Given the description of an element on the screen output the (x, y) to click on. 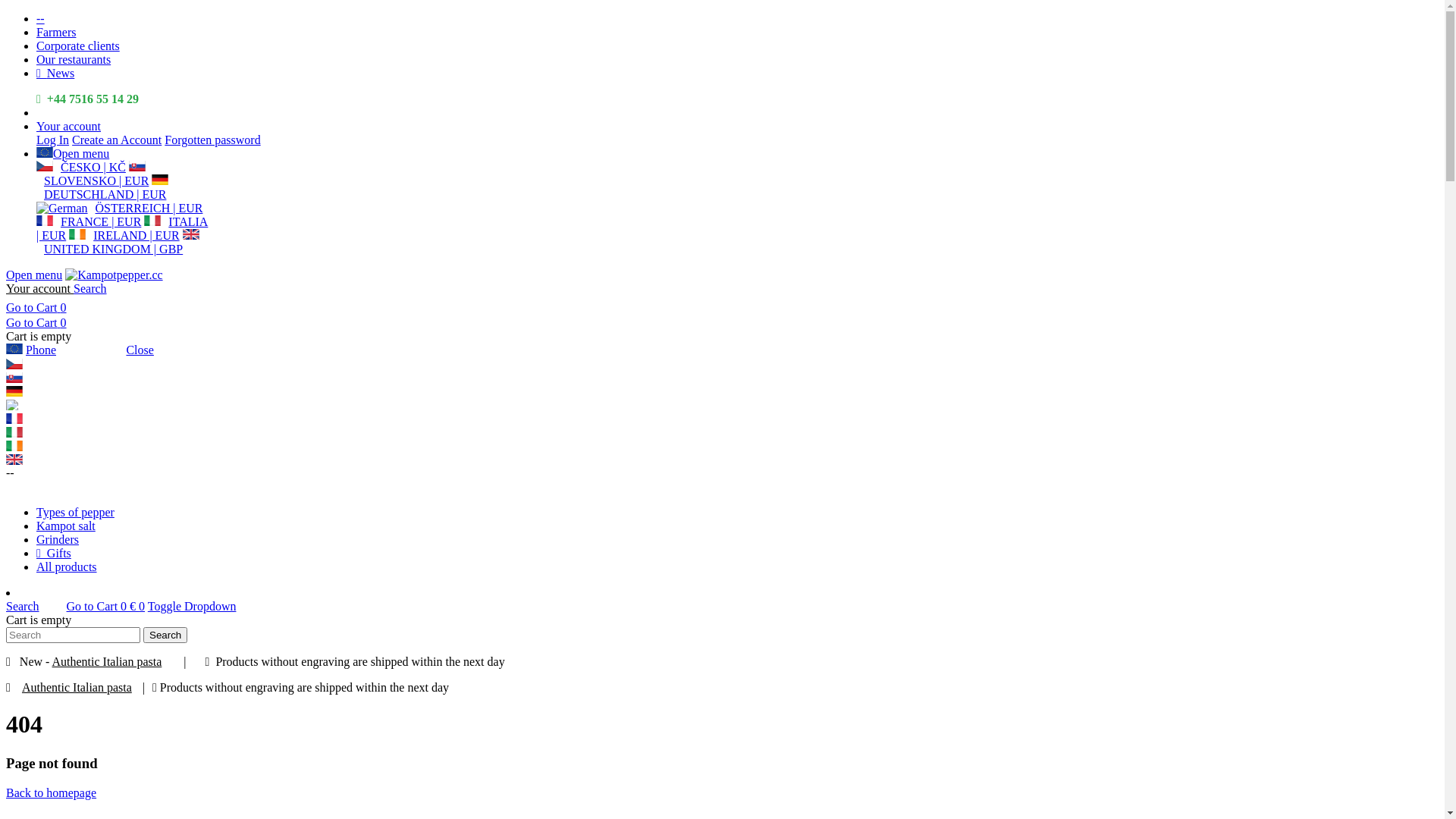
Slovak Element type: hover (136, 165)
Deutschland | EUR Element type: text (722, 391)
English Element type: hover (190, 234)
Your account Element type: text (68, 125)
Search Element type: text (89, 288)
Open menu Element type: text (72, 153)
Slovensko | Eur Element type: text (722, 377)
Go to Cart 0 Element type: text (36, 307)
English Element type: hover (77, 234)
Close Element type: text (139, 349)
Farmers Element type: text (55, 31)
All products Element type: text (66, 566)
Our restaurants Element type: text (73, 59)
SLOVENSKO | EUR Element type: text (92, 173)
Home Element type: hover (113, 274)
FRANCE | EUR Element type: text (88, 221)
Go to Cart 0 Element type: text (36, 322)
France | Eur Element type: text (722, 418)
DEUTSCHLAND | EUR Element type: text (102, 187)
Kampot salt Element type: text (65, 525)
Types of pepper Element type: text (75, 511)
-- Element type: text (40, 18)
German Element type: hover (159, 179)
UNITED KINGDOM | GBP Element type: text (117, 242)
Your account Element type: text (39, 288)
Search Element type: text (165, 635)
Ireland | Eur Element type: text (722, 445)
IRELAND | EUR Element type: text (123, 235)
Kampotpepper.cc Element type: hover (113, 275)
United Kingdom | GBP Element type: text (722, 459)
Forgotten password Element type: text (181, 486)
Grinders Element type: text (57, 539)
ITALIA | EUR Element type: text (121, 228)
Authentic Italian pasta Element type: text (106, 661)
Log In Element type: text (52, 139)
Your account Element type: text (91, 349)
Forgotten password Element type: text (212, 139)
Czech Element type: hover (44, 165)
English Element type: hover (44, 152)
Italian Element type: hover (152, 220)
Search Element type: text (34, 605)
English Element type: hover (14, 348)
Create an Account Element type: text (86, 486)
German Element type: hover (61, 208)
Create an Account Element type: text (116, 139)
French Element type: hover (44, 220)
Open menu Element type: text (34, 274)
Italia | Eur Element type: text (722, 432)
Corporate clients Element type: text (77, 45)
Log In Element type: text (22, 486)
Toggle Dropdown Element type: text (191, 605)
Authentic Italian pasta Element type: text (76, 686)
Phone Element type: text (40, 349)
Back to homepage Element type: text (51, 792)
